Given the description of an element on the screen output the (x, y) to click on. 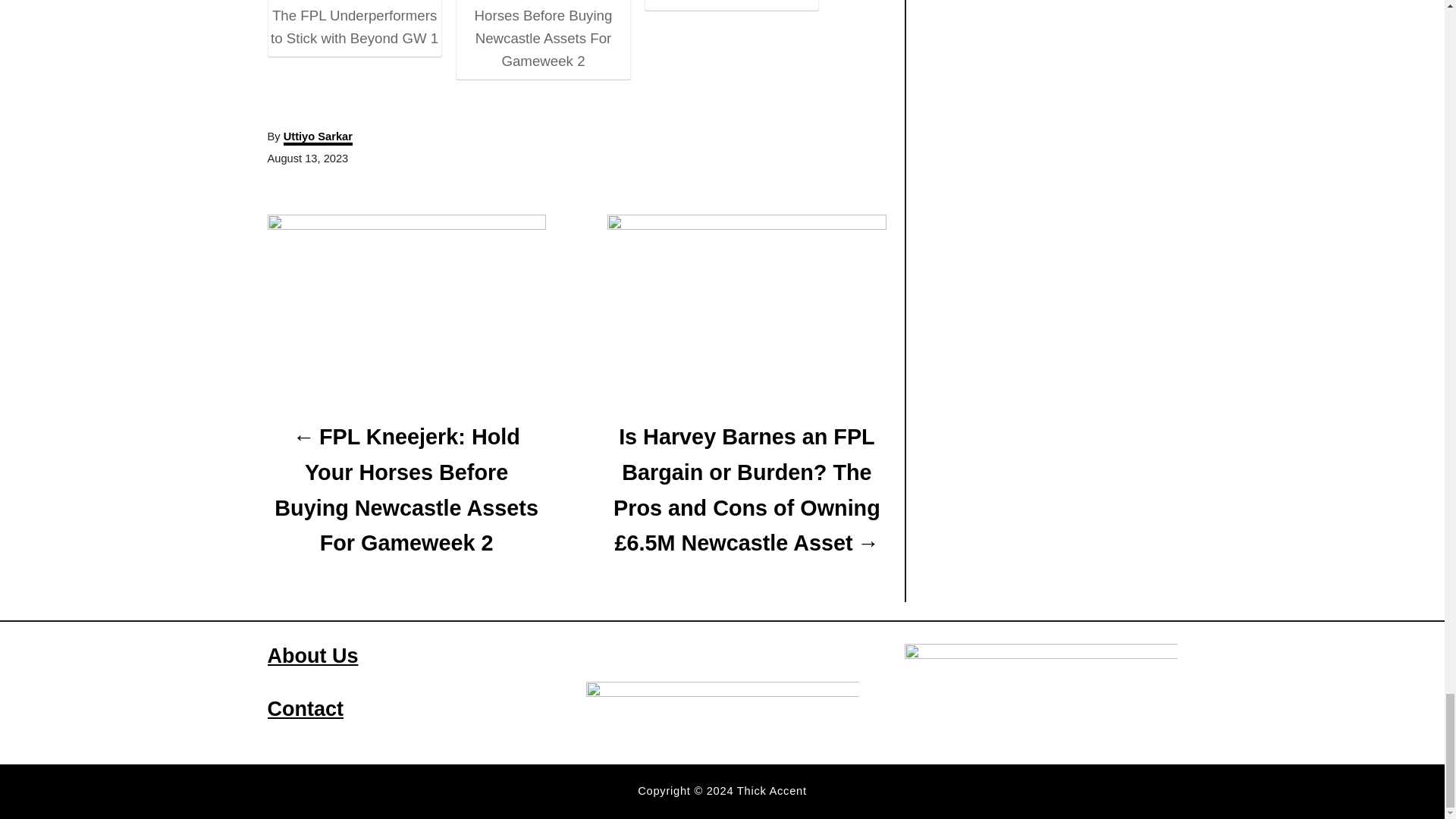
Contact (304, 708)
Top 4 Betting Tips for Norwich v West Brom (731, 2)
About Us (312, 655)
Uttiyo Sarkar (317, 137)
